Given the description of an element on the screen output the (x, y) to click on. 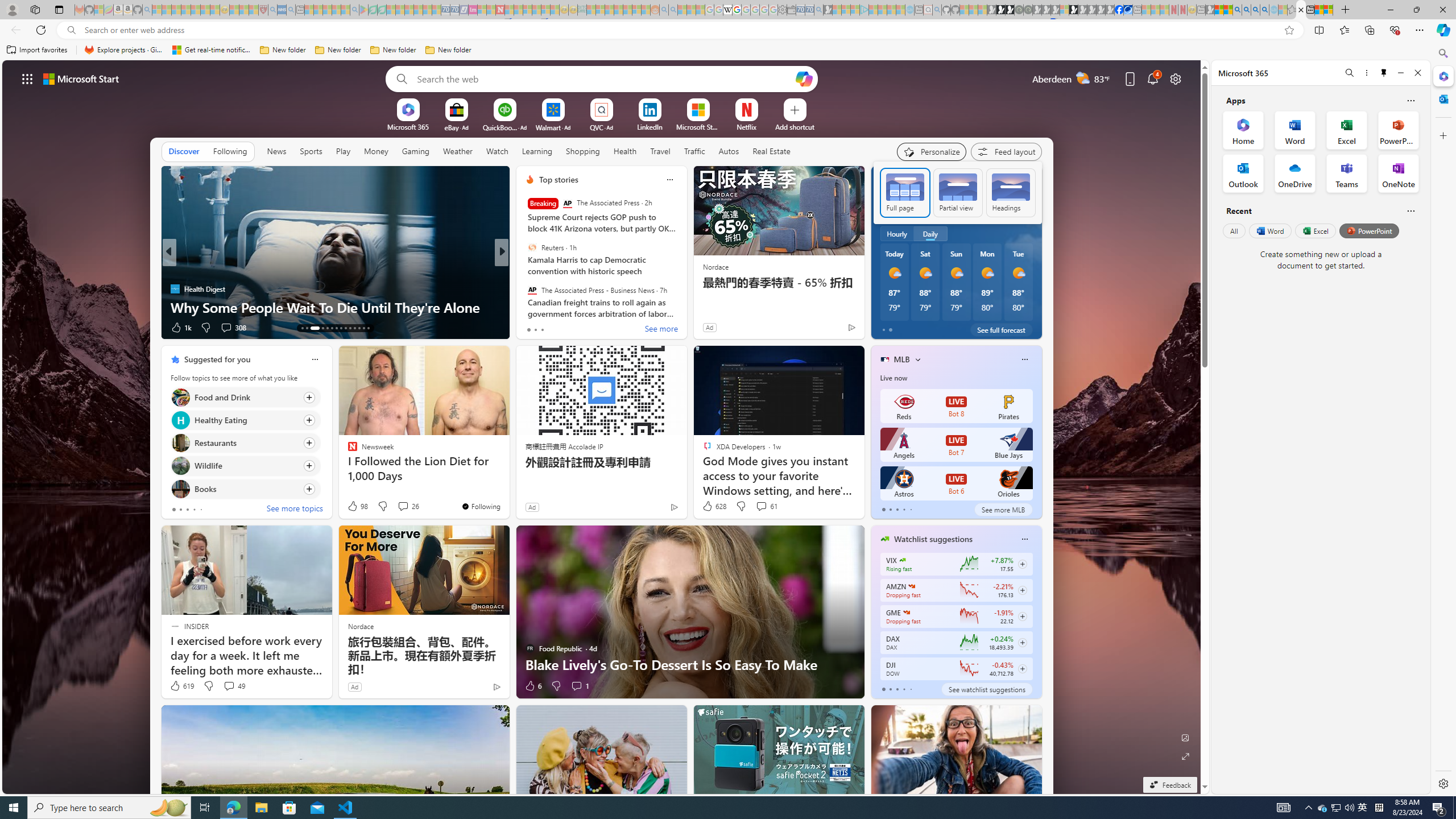
View comments 13 Comment (580, 327)
69 Like (530, 327)
Future Focus Report 2024 - Sleeping (1027, 9)
App launcher (27, 78)
MLB (901, 359)
Google Chrome Internet Browser Download - Search Images (1264, 9)
github - Search - Sleeping (936, 9)
